Given the description of an element on the screen output the (x, y) to click on. 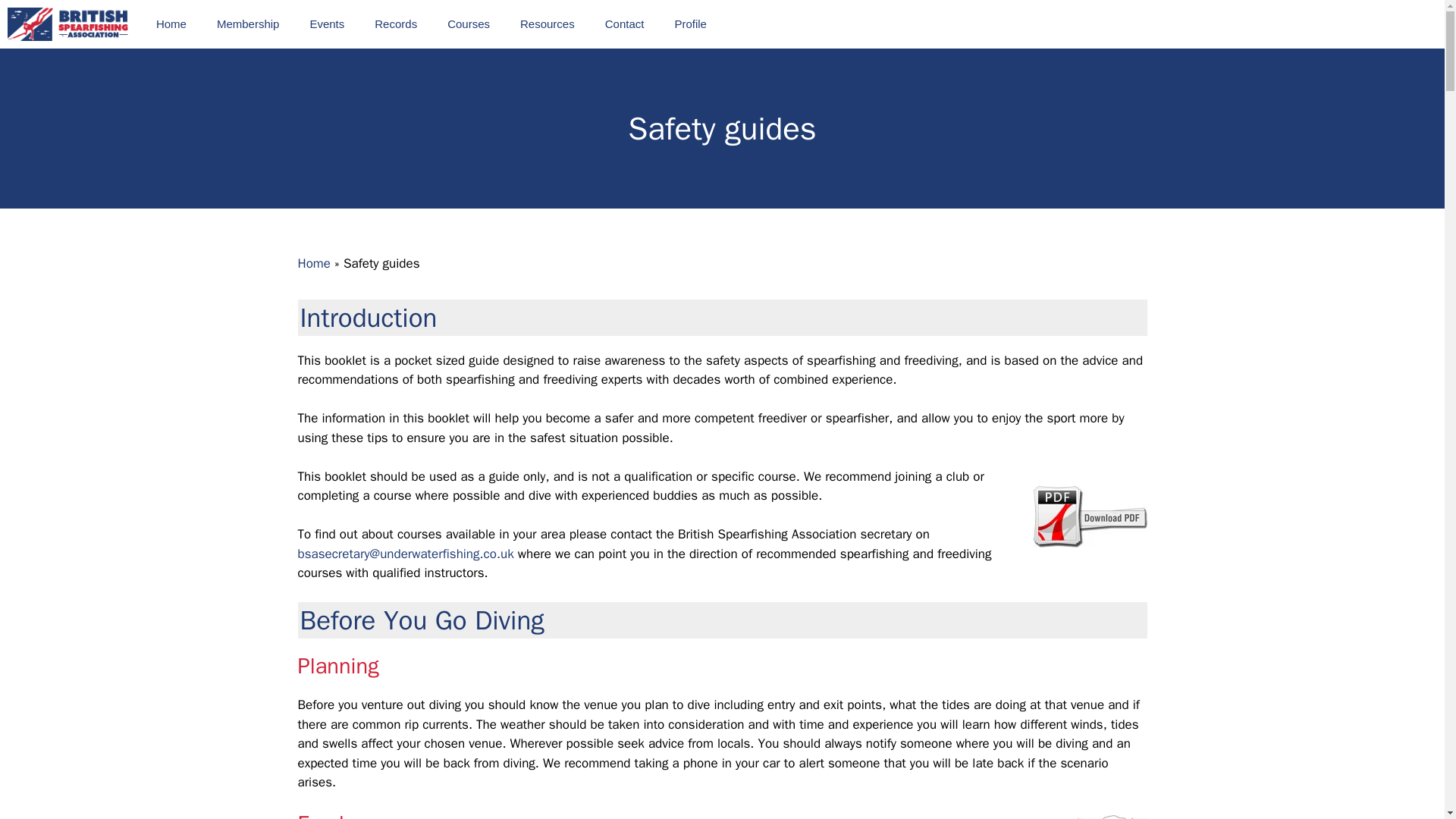
Home (171, 23)
Records (395, 23)
Home (313, 263)
Courses (468, 23)
Resources (547, 23)
Membership (248, 23)
Profile (690, 23)
Contact (624, 23)
Events (326, 23)
